Given the description of an element on the screen output the (x, y) to click on. 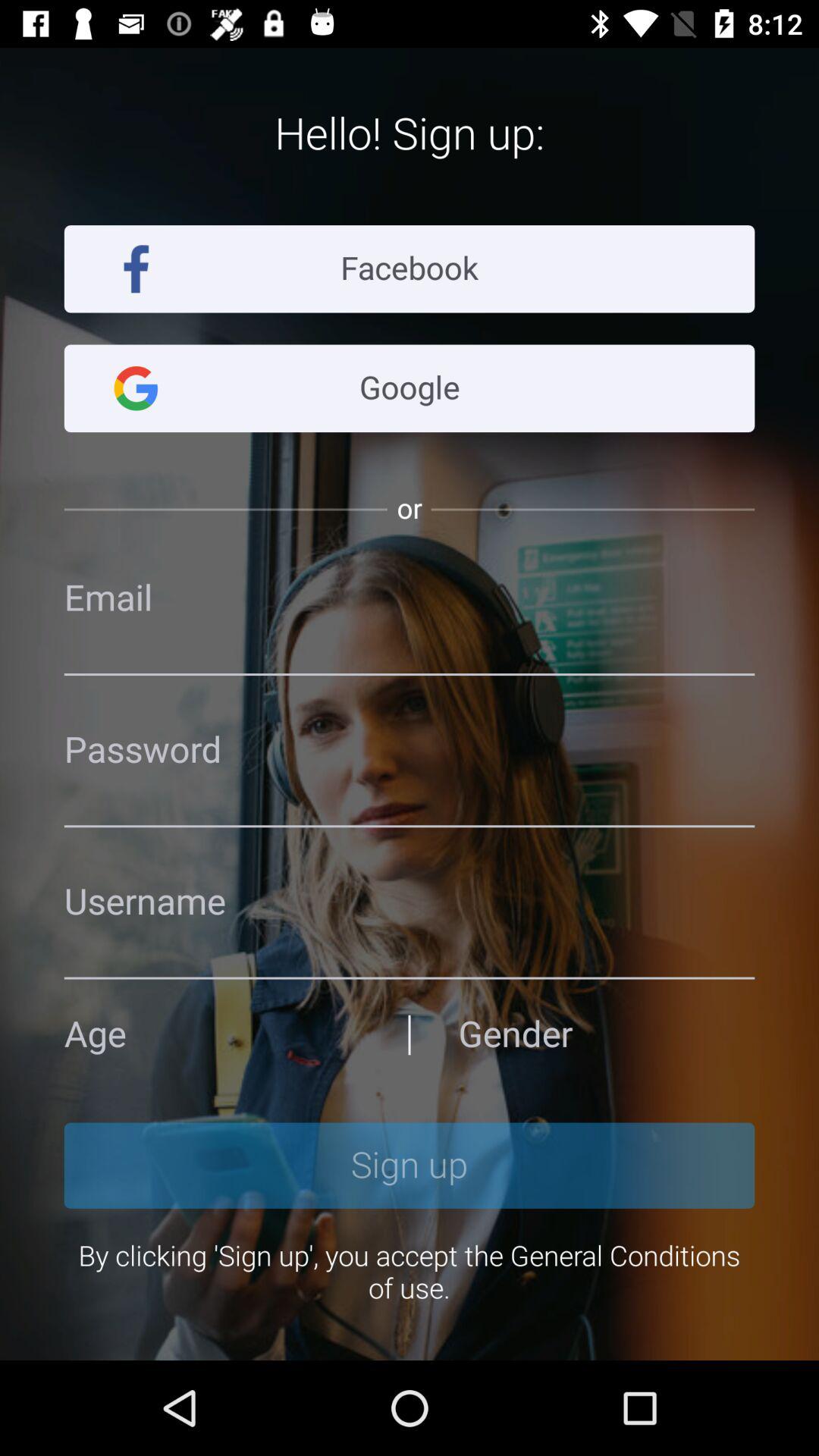
password page (409, 902)
